Given the description of an element on the screen output the (x, y) to click on. 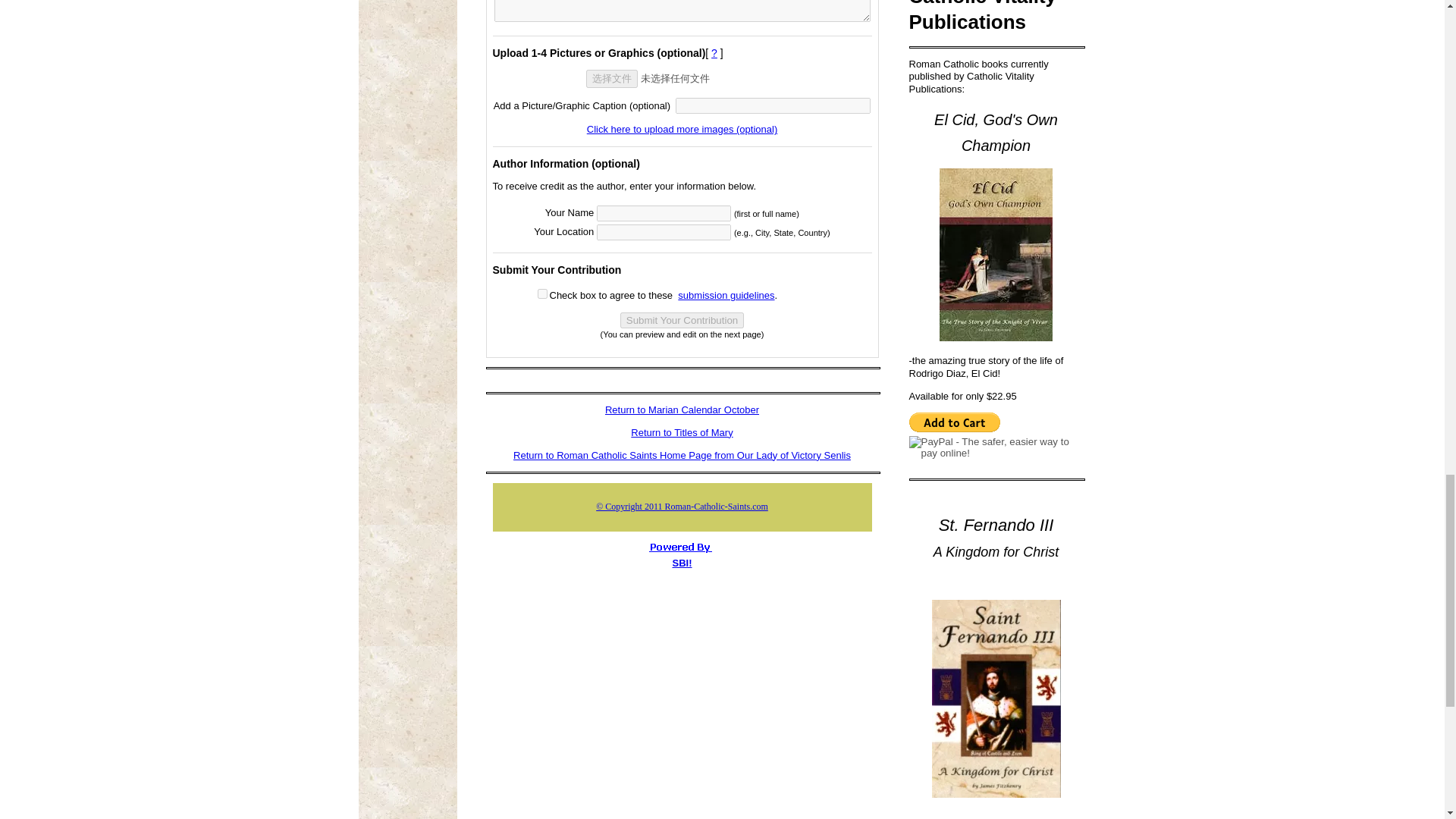
checkbox (542, 293)
Return to Marian Calendar October (681, 409)
Return to Titles of Mary (681, 432)
submission guidelines (726, 295)
Go to El Cid, Campeador, National Hero of Spain (995, 337)
Submit Your Contribution (682, 320)
Submit Your Contribution (682, 320)
SBI! (681, 562)
Go to Saint Fernando III, King of Castile and Leon (995, 794)
